Given the description of an element on the screen output the (x, y) to click on. 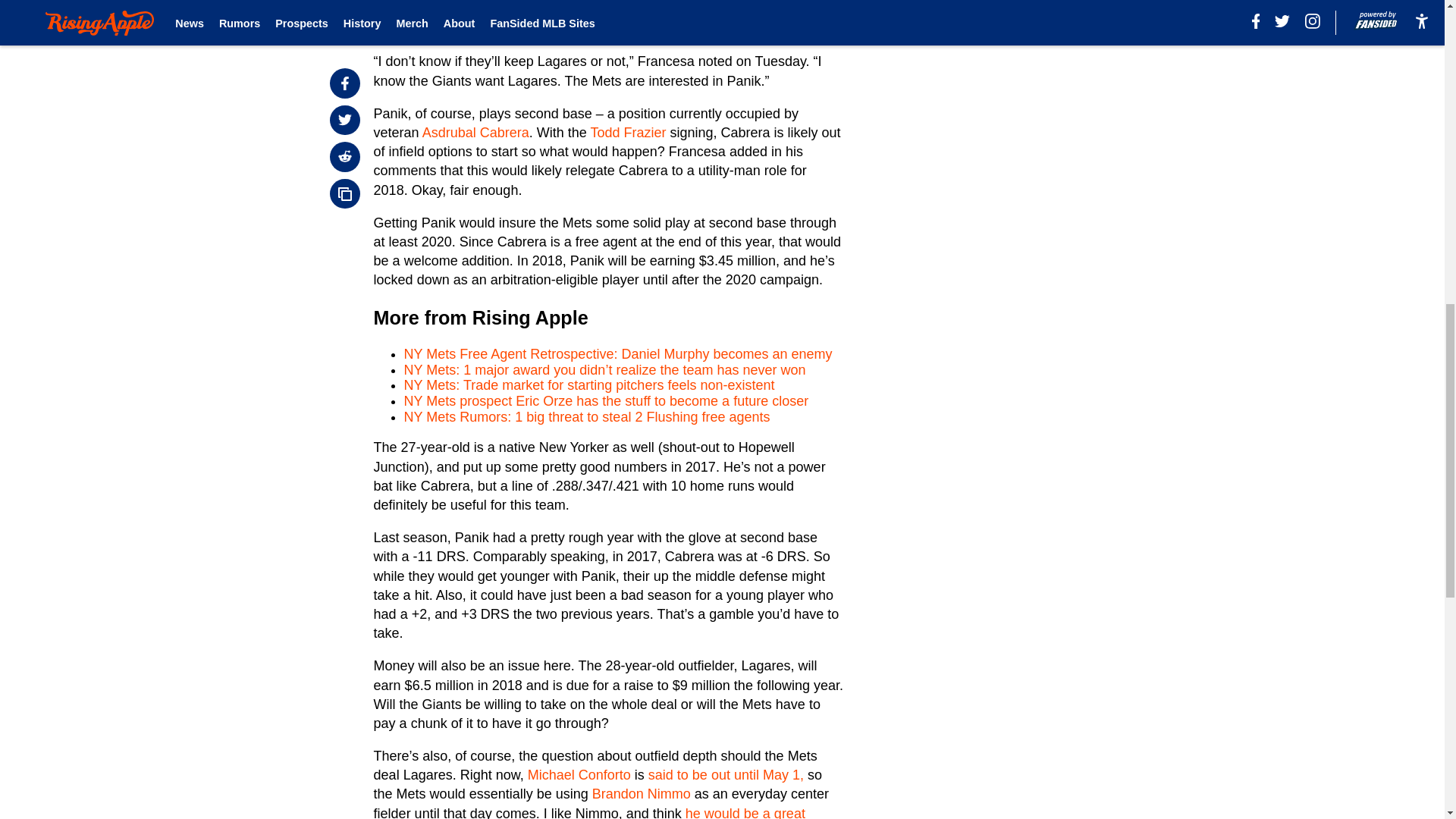
Todd Frazier (627, 132)
Joe Panik (578, 28)
Juan Lagares (415, 28)
Asdrubal Cabrera (475, 132)
